Given the description of an element on the screen output the (x, y) to click on. 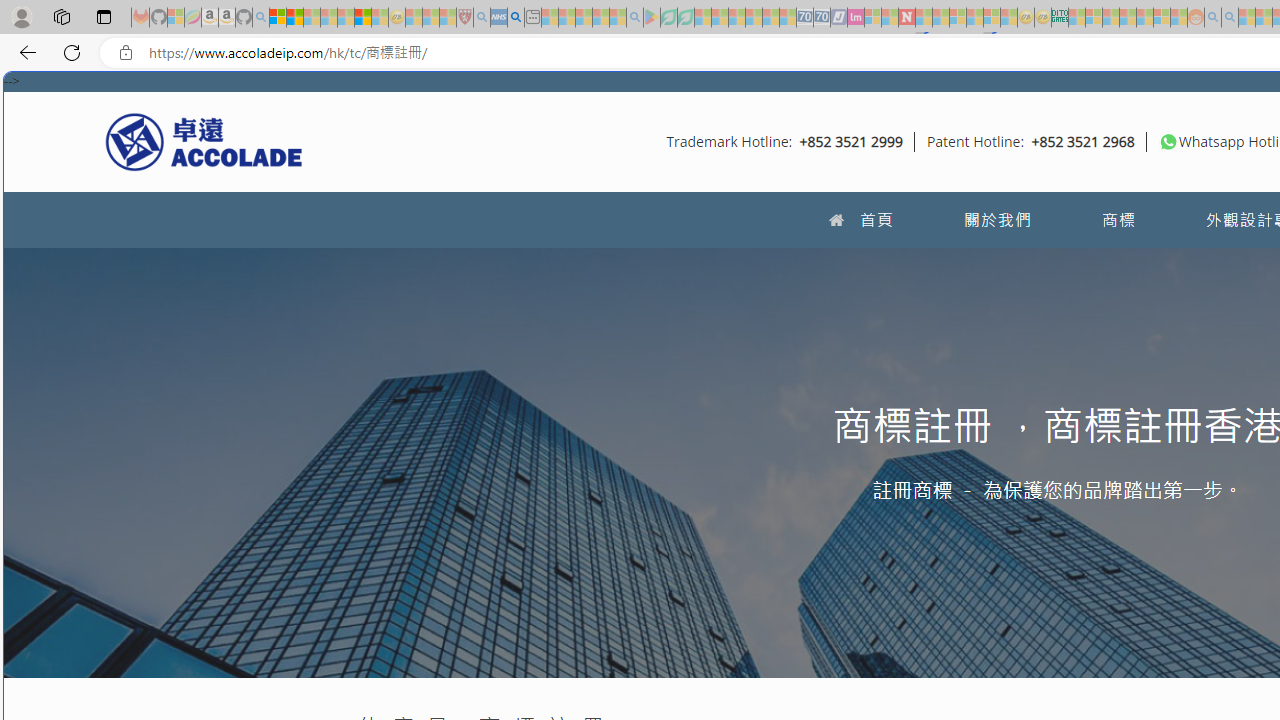
Terms of Use Agreement - Sleeping (668, 17)
Class: desktop (1168, 141)
New Report Confirms 2023 Was Record Hot | Watch - Sleeping (345, 17)
